Given the description of an element on the screen output the (x, y) to click on. 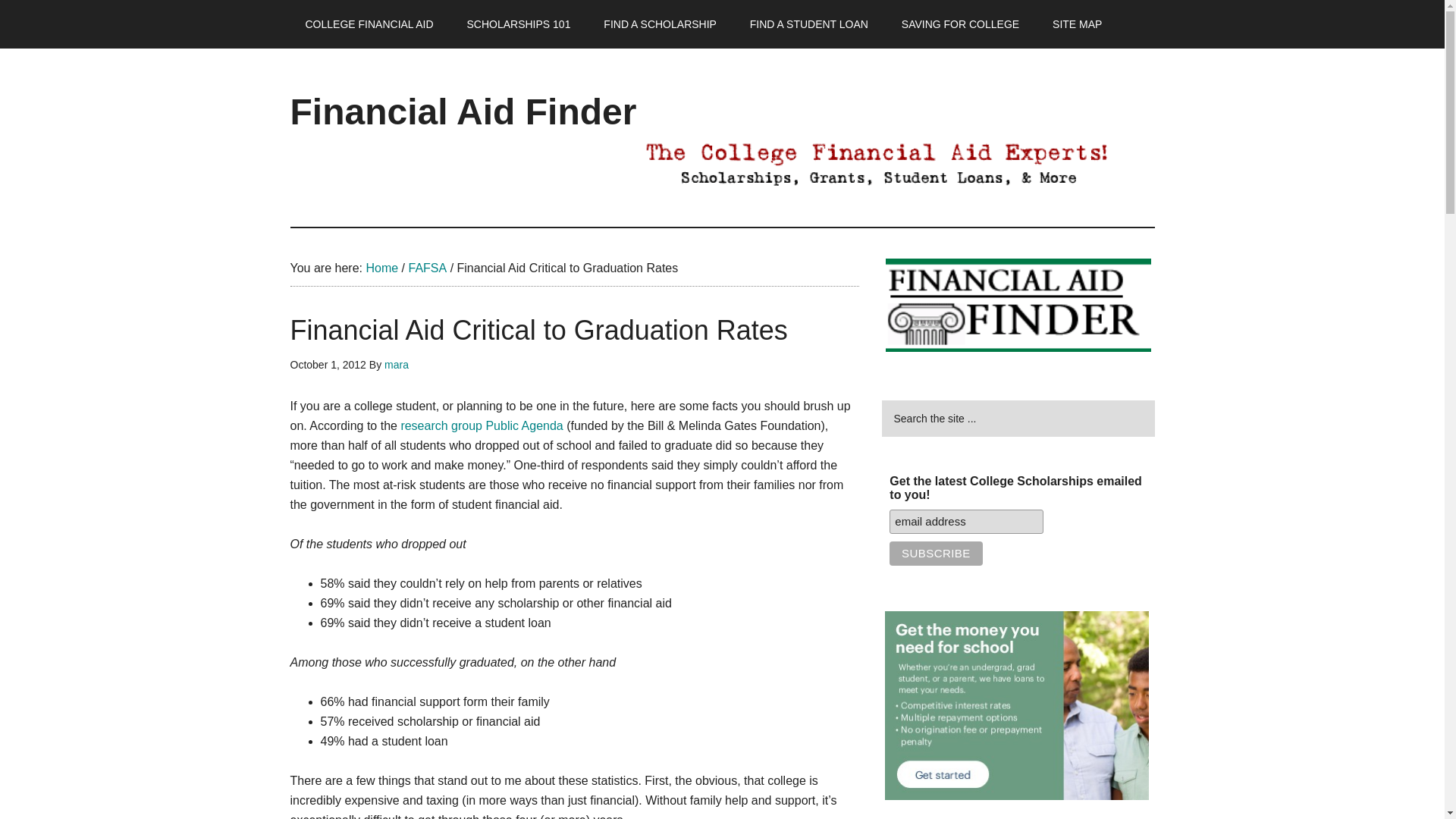
SCHOLARSHIPS 101 (518, 24)
FIND A STUDENT LOAN (809, 24)
COLLEGE FINANCIAL AID (368, 24)
Subscribe (935, 553)
FIND A SCHOLARSHIP (660, 24)
